Given the description of an element on the screen output the (x, y) to click on. 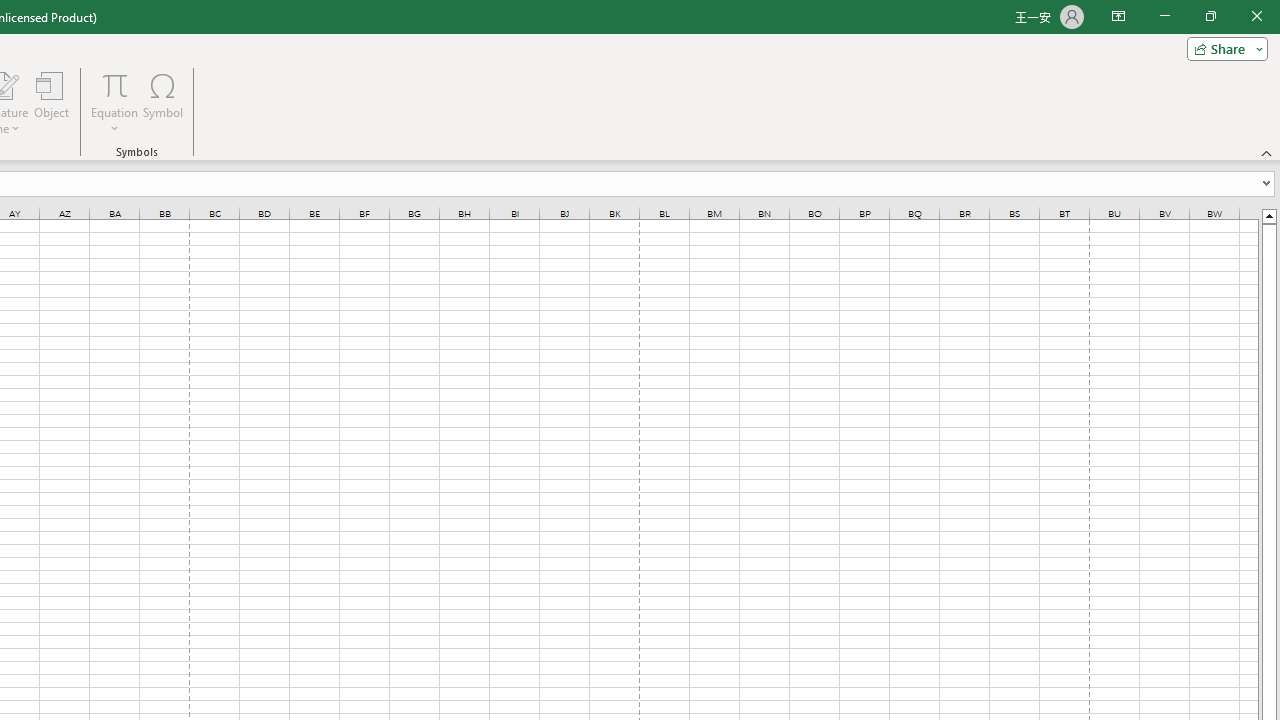
Symbol... (162, 102)
Close (1256, 16)
More Options (114, 121)
Equation (114, 84)
Share (1223, 48)
Collapse the Ribbon (1267, 152)
Restore Down (1210, 16)
Equation (114, 102)
Object... (51, 102)
Line up (1268, 215)
Ribbon Display Options (1118, 16)
Minimize (1164, 16)
